Given the description of an element on the screen output the (x, y) to click on. 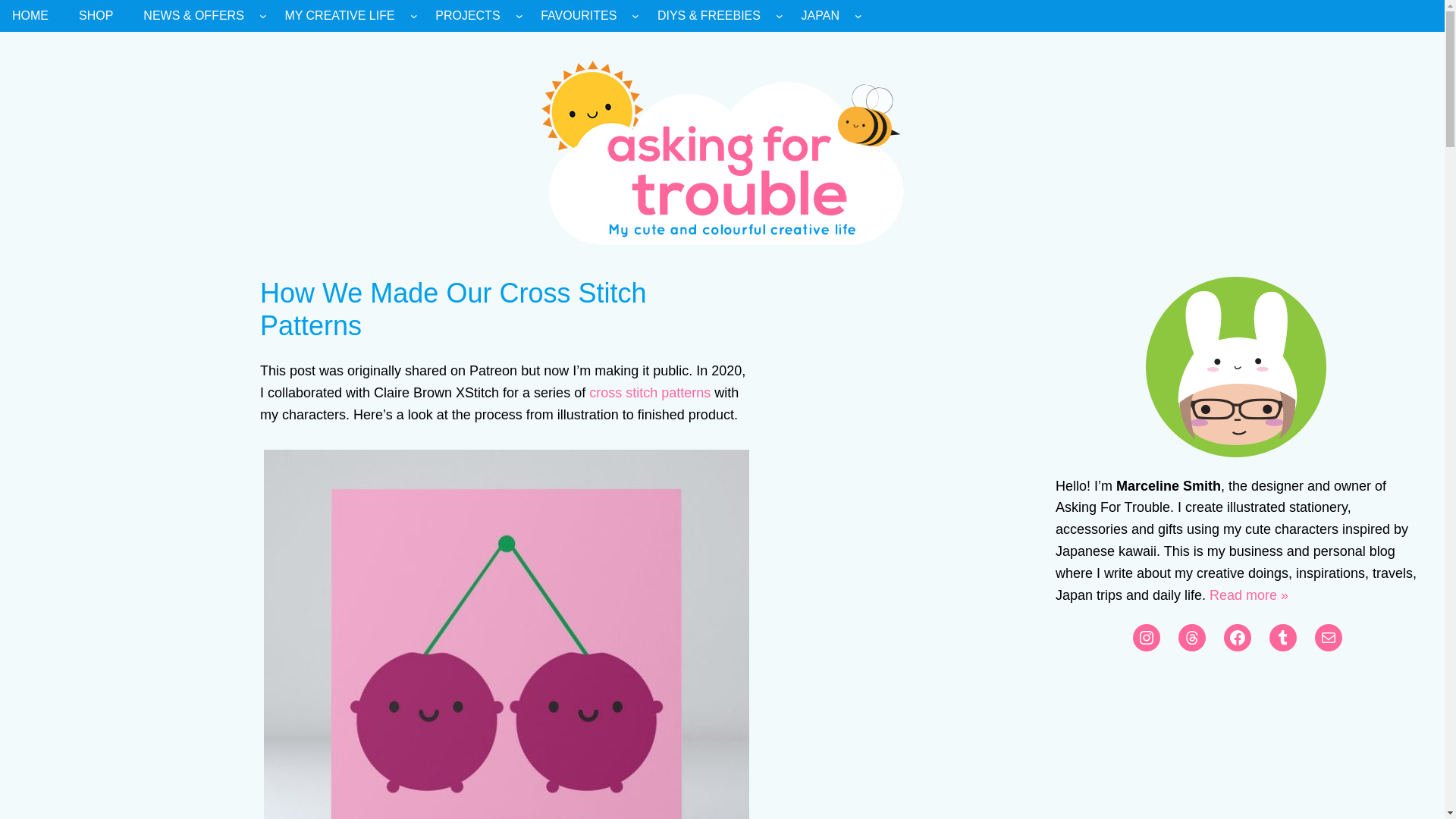
MY CREATIVE LIFE (339, 15)
FAVOURITES (578, 15)
PROJECTS (467, 15)
SHOP (95, 15)
HOME (30, 15)
